Given the description of an element on the screen output the (x, y) to click on. 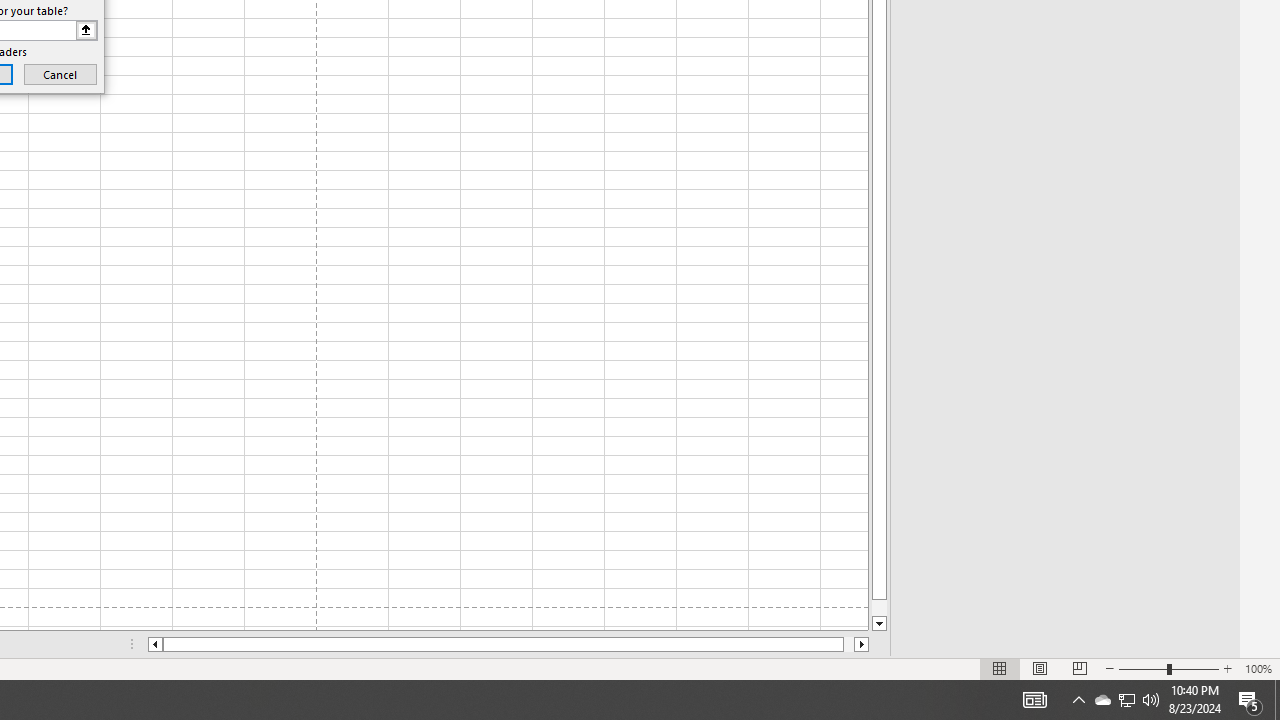
Page Layout (1039, 668)
Zoom In (1227, 668)
Page Break Preview (1079, 668)
Column right (861, 644)
Class: NetUIScrollBar (507, 644)
Normal (1000, 668)
Page right (848, 644)
Page down (879, 607)
Zoom (1168, 668)
Zoom Out (1142, 668)
Column left (153, 644)
Line down (879, 624)
